Given the description of an element on the screen output the (x, y) to click on. 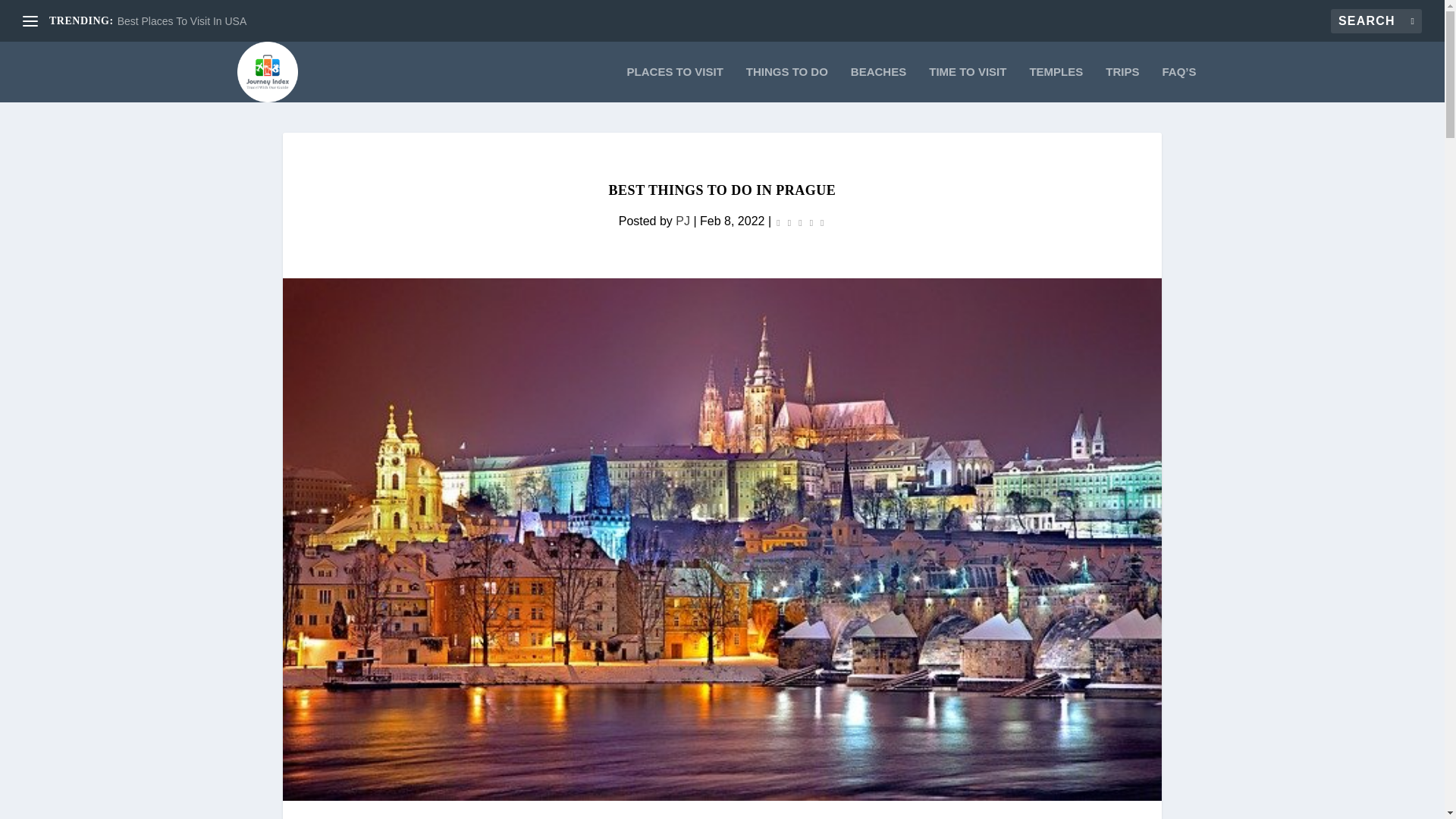
TEMPLES (1056, 84)
PLACES TO VISIT (675, 84)
TIME TO VISIT (967, 84)
TRIPS (1121, 84)
Rating: 0.00 (799, 221)
Posts by PJ (682, 220)
PJ (682, 220)
THINGS TO DO (786, 84)
Best Places To Visit In USA (182, 21)
Search for: (1376, 21)
BEACHES (877, 84)
